Given the description of an element on the screen output the (x, y) to click on. 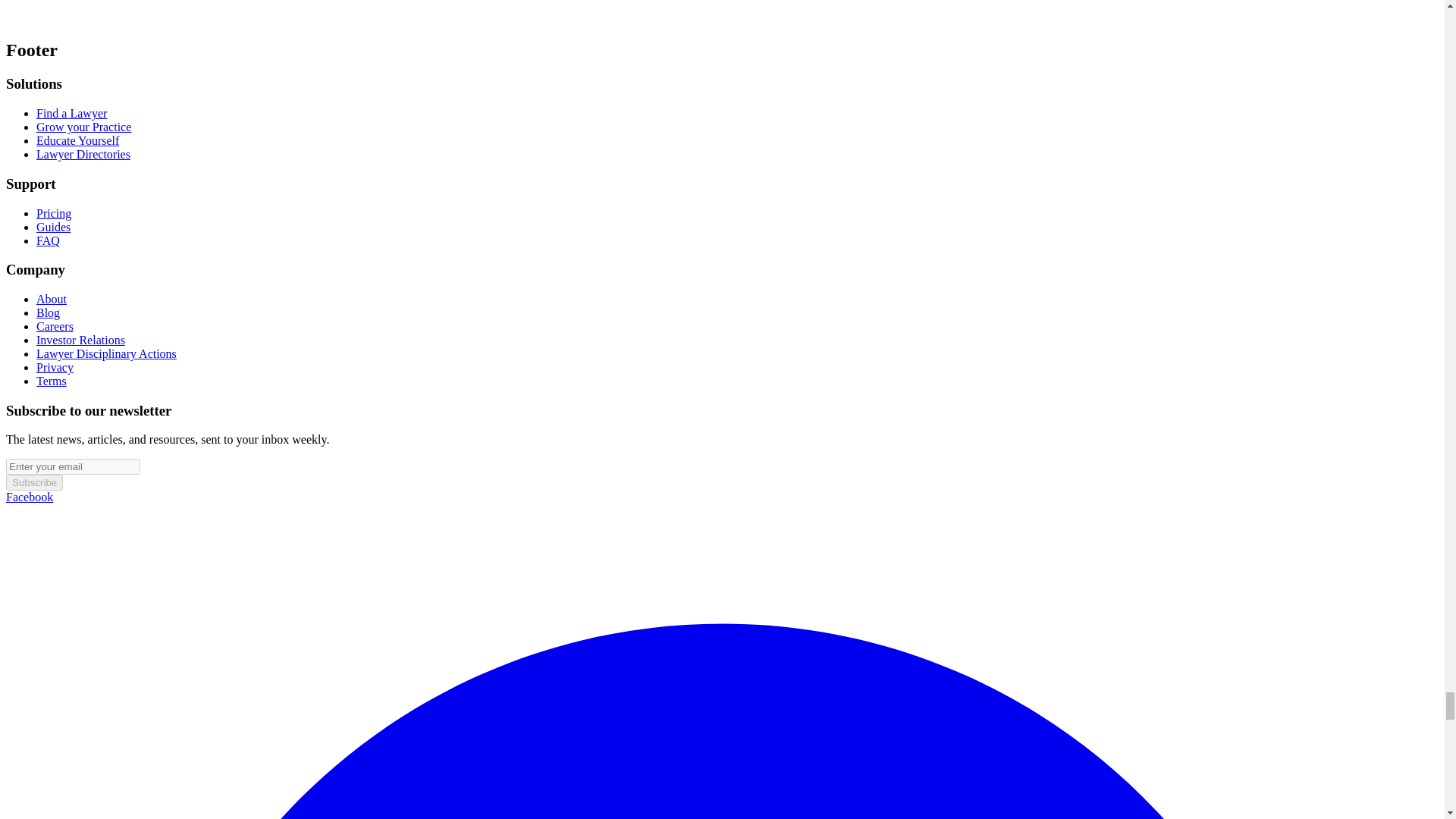
Investor Relations (80, 339)
Educate Yourself (77, 140)
Subscribe (33, 482)
Privacy (55, 367)
Find a Lawyer (71, 113)
Terms (51, 380)
Guides (52, 226)
Grow your Practice (83, 126)
Pricing (53, 213)
About (51, 298)
